Given the description of an element on the screen output the (x, y) to click on. 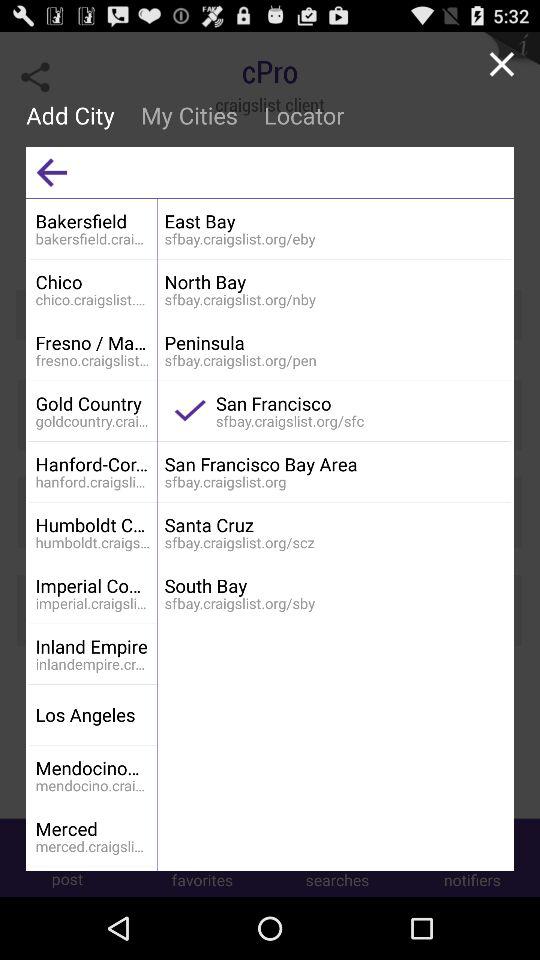
turn off the icon to the left of my cities icon (76, 115)
